Given the description of an element on the screen output the (x, y) to click on. 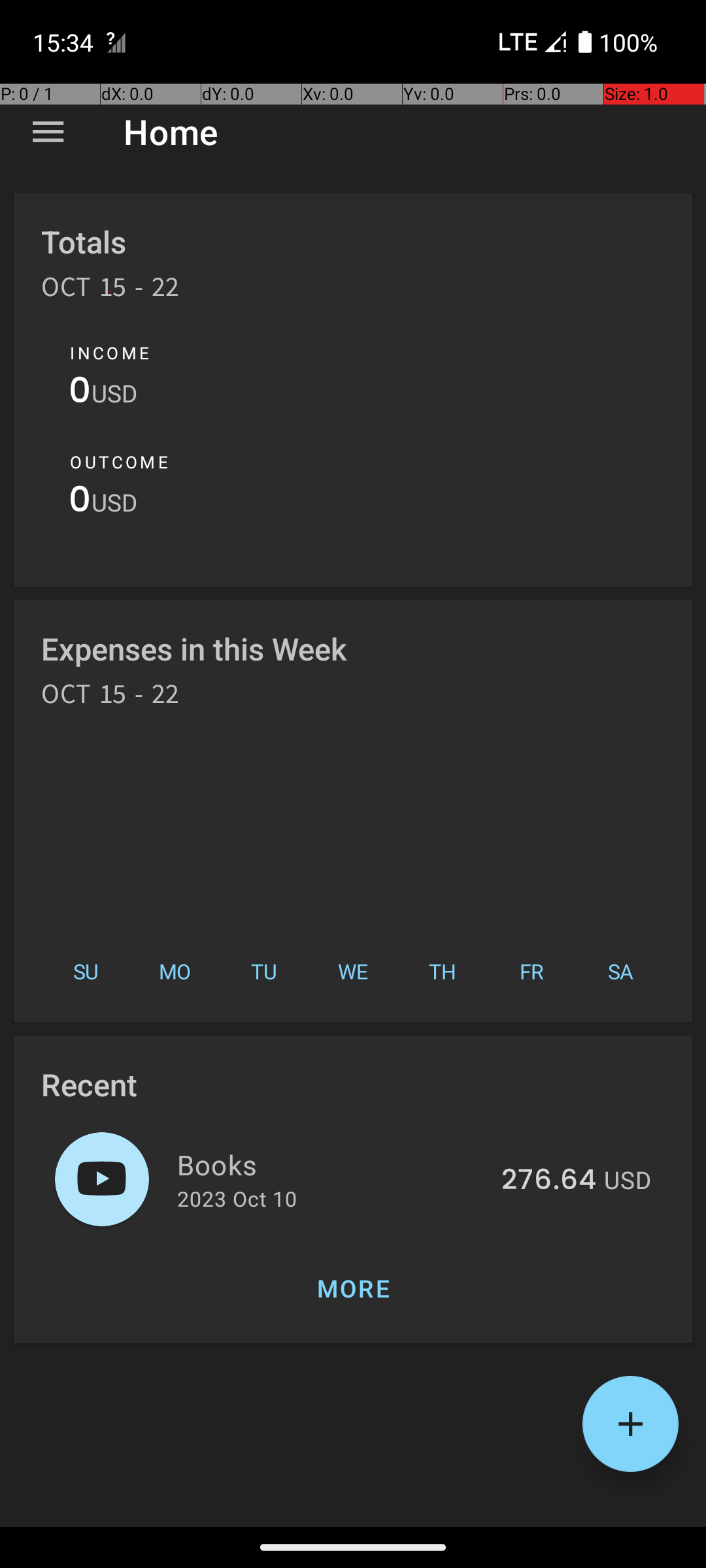
Books Element type: android.widget.TextView (331, 1164)
276.64 Element type: android.widget.TextView (548, 1180)
